Given the description of an element on the screen output the (x, y) to click on. 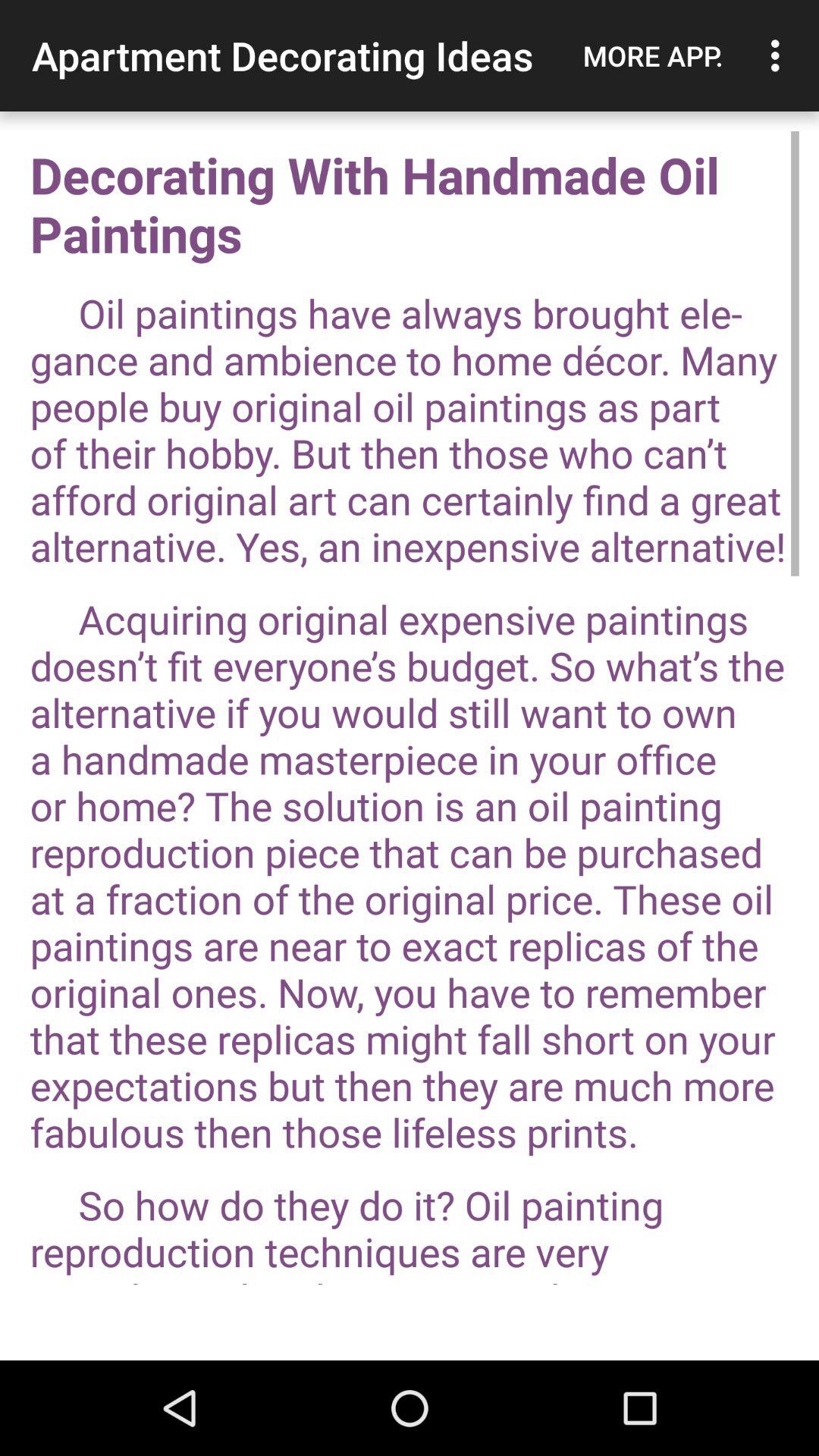
choose the icon next to more app. icon (779, 55)
